Given the description of an element on the screen output the (x, y) to click on. 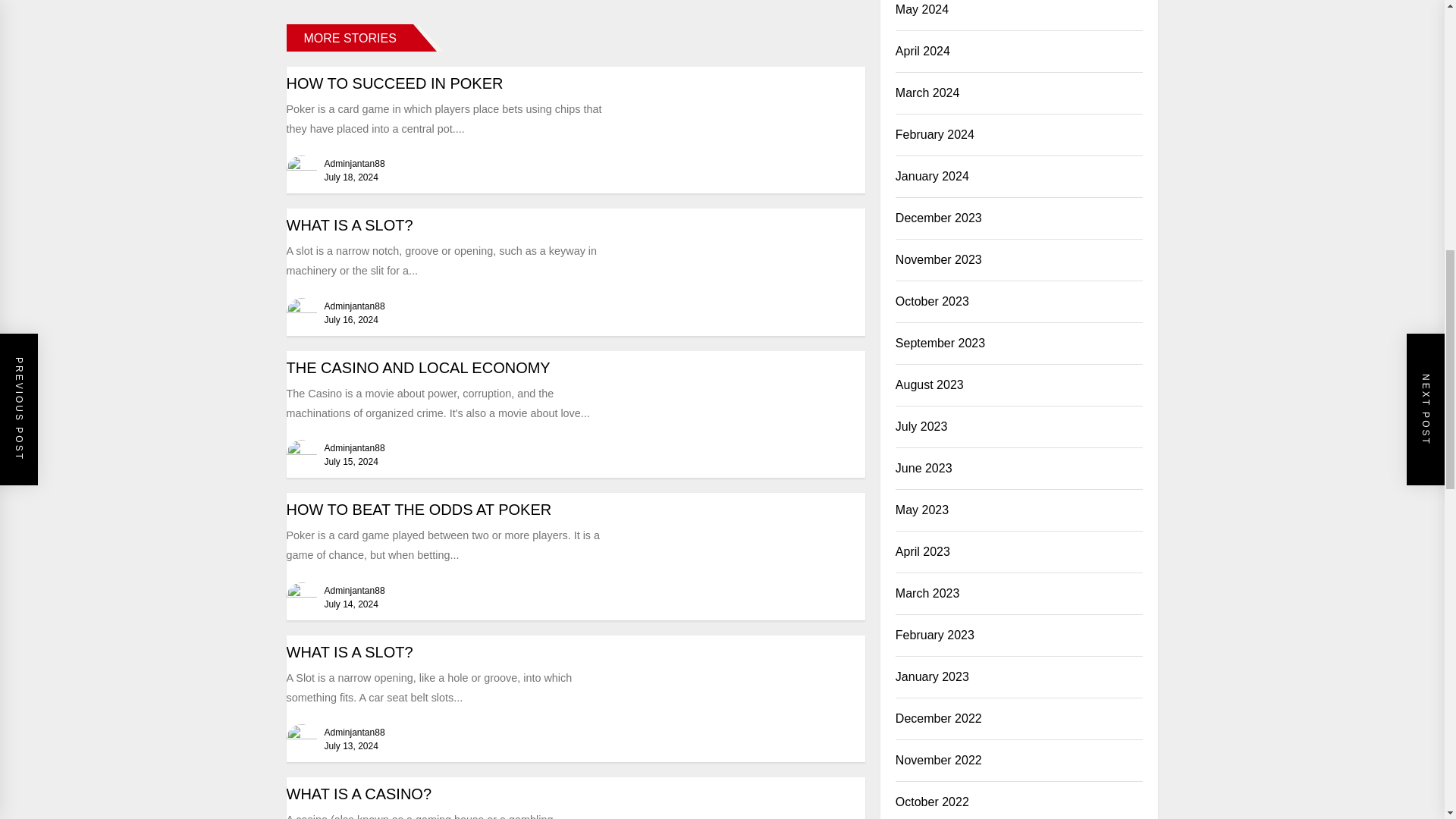
July 18, 2024 (351, 176)
HOW TO SUCCEED IN POKER (394, 83)
Adminjantan88 (354, 163)
